Given the description of an element on the screen output the (x, y) to click on. 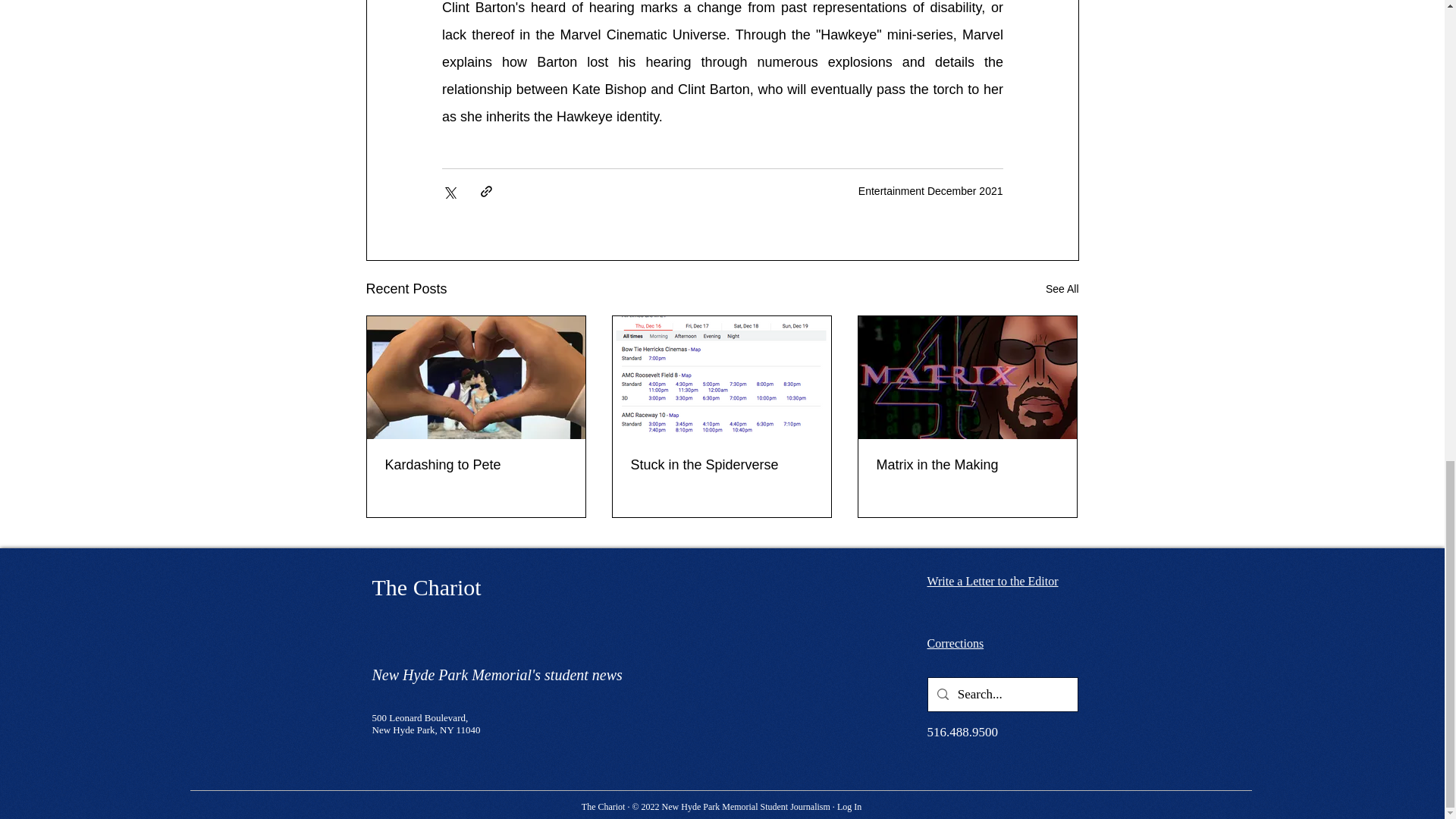
See All (1061, 289)
Kardashing to Pete (476, 465)
Entertainment December 2021 (931, 191)
Corrections (955, 643)
Log In (849, 806)
Matrix in the Making (967, 465)
Write a Letter to the Editor (992, 581)
Stuck in the Spiderverse (721, 465)
